Given the description of an element on the screen output the (x, y) to click on. 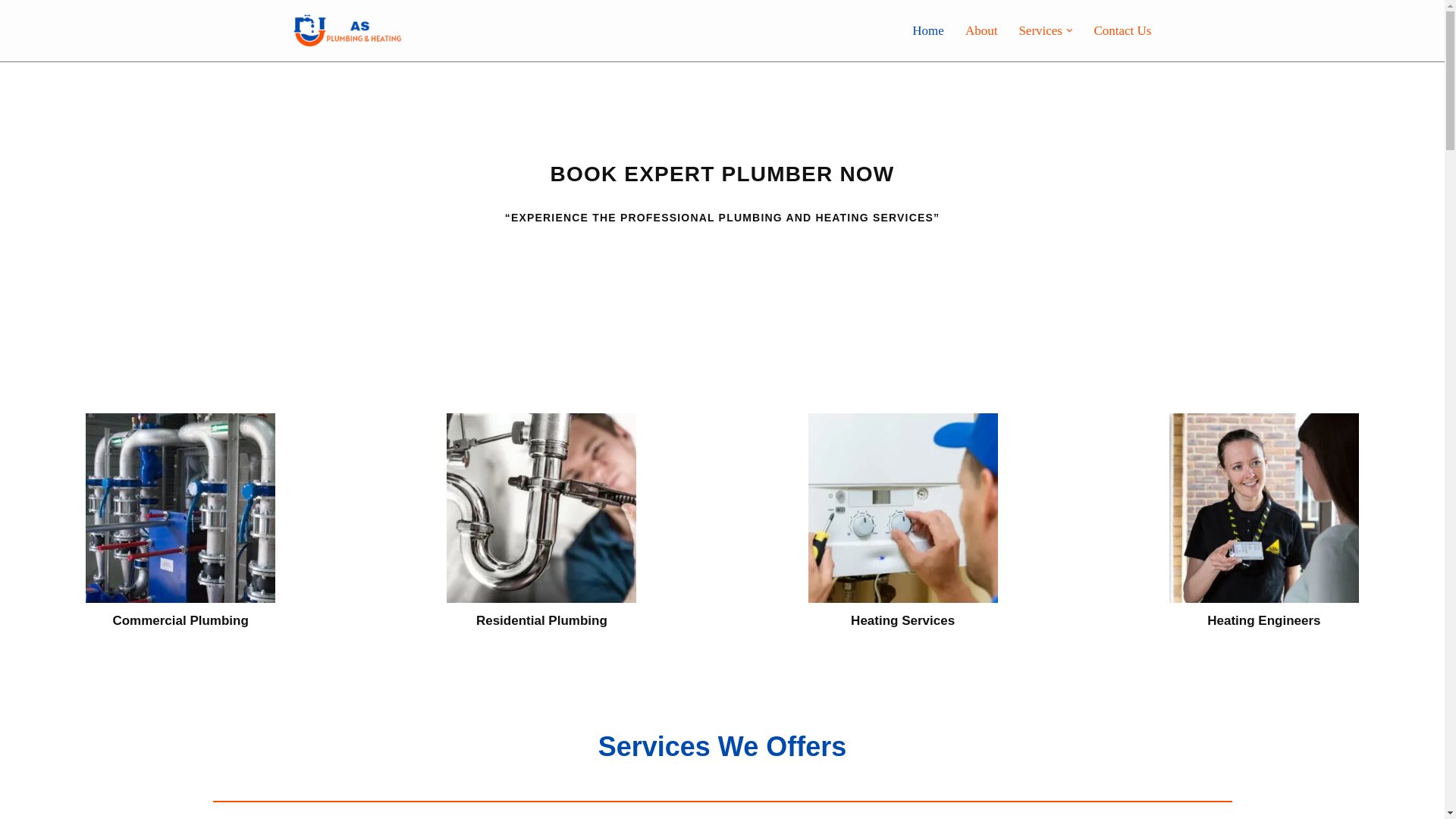
Contact Us (1122, 29)
About (981, 29)
Services (1039, 29)
Skip to content (11, 31)
Home (927, 29)
